Given the description of an element on the screen output the (x, y) to click on. 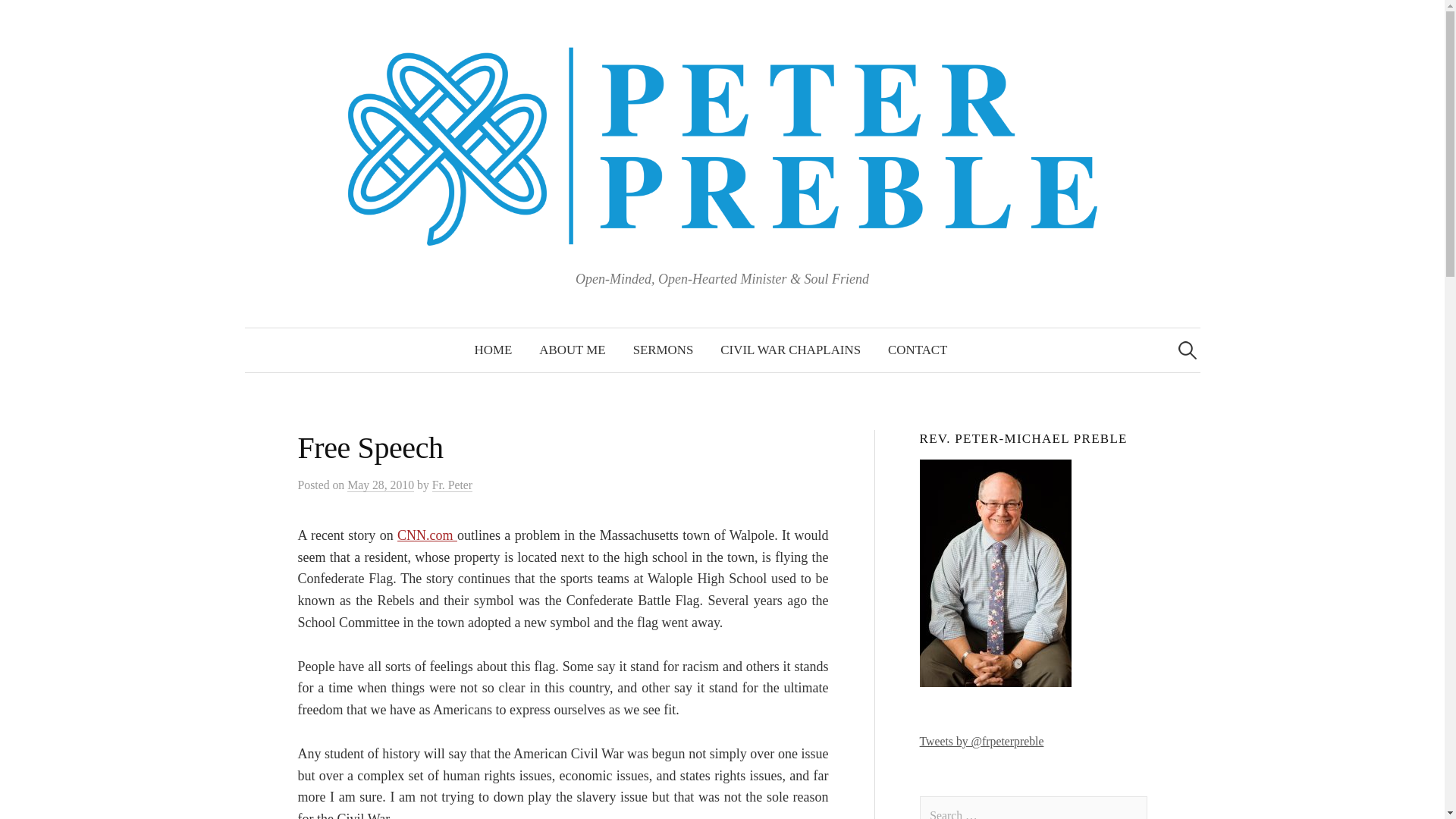
ABOUT ME (571, 350)
May 28, 2010 (380, 485)
Search (18, 18)
View all posts by Fr. Peter (451, 485)
SERMONS (663, 350)
Fr. Peter (451, 485)
Search (40, 18)
CIVIL WAR CHAPLAINS (790, 350)
CNN.com (427, 534)
CONTACT (917, 350)
